Given the description of an element on the screen output the (x, y) to click on. 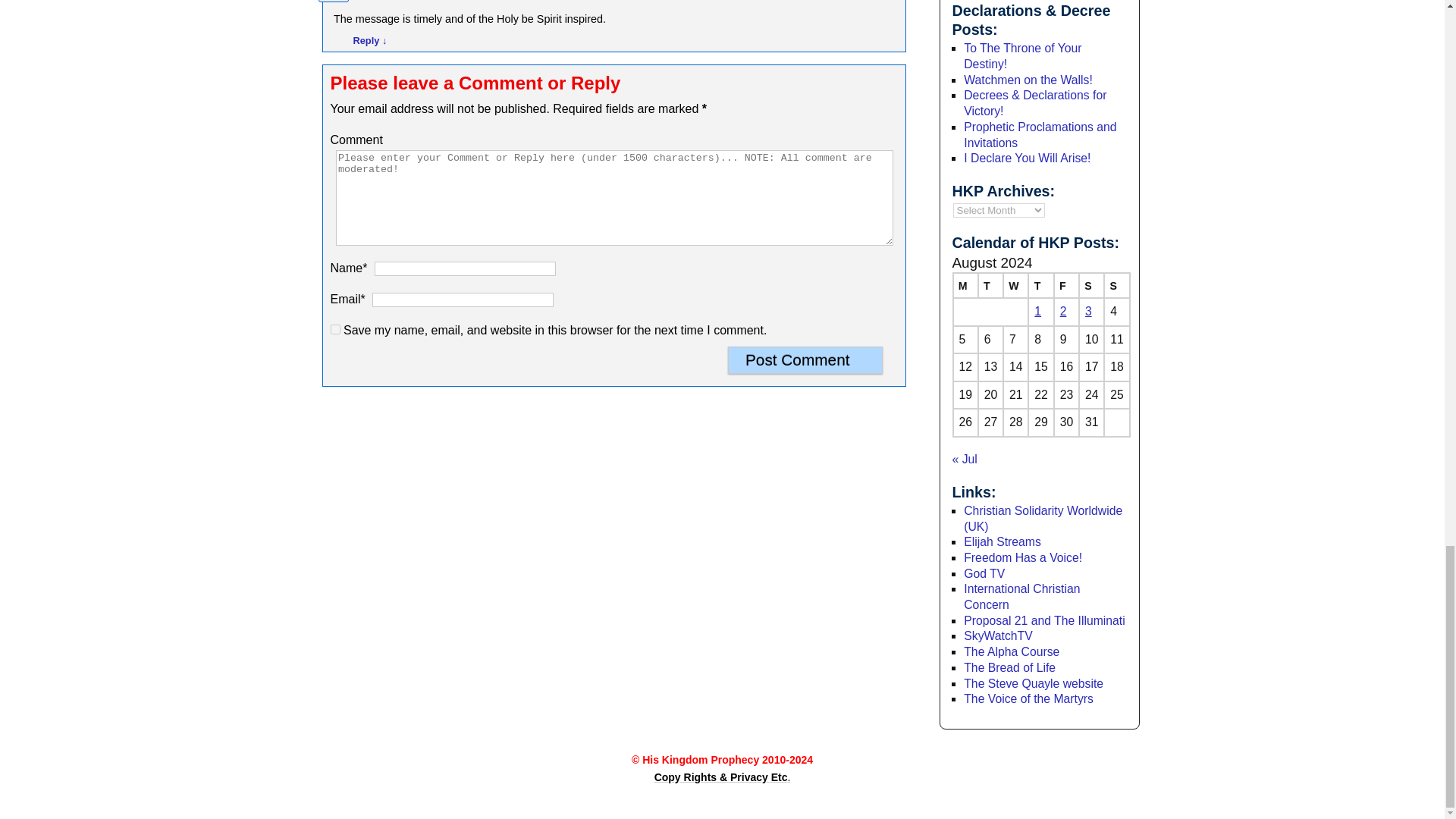
Sunday (1116, 285)
Thursday (1039, 285)
Saturday (1090, 285)
Monday (964, 285)
yes (335, 329)
Wednesday (1015, 285)
Post Comment (805, 359)
Tuesday (990, 285)
Friday (1066, 285)
